Given the description of an element on the screen output the (x, y) to click on. 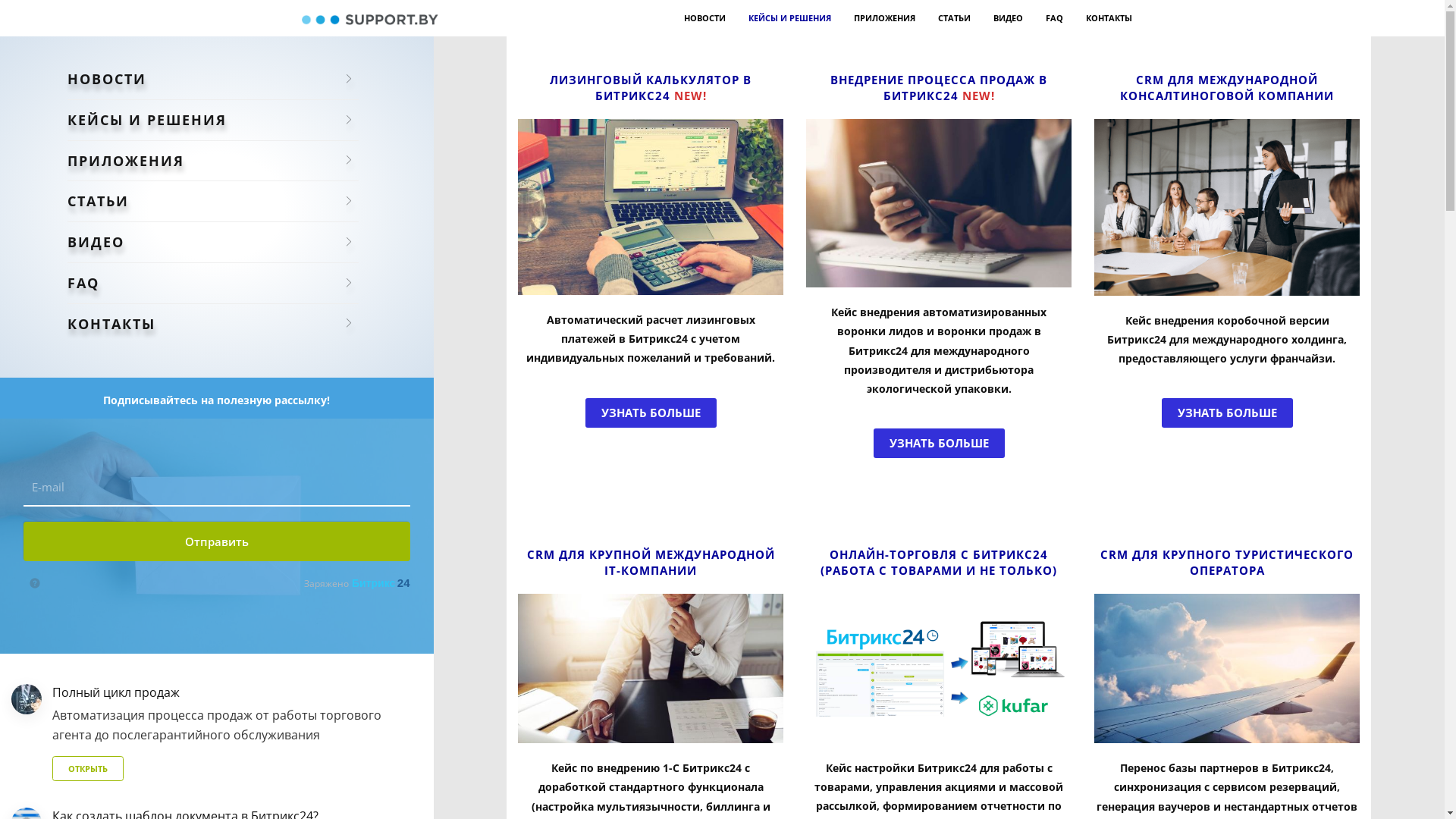
FAQ Element type: text (1053, 18)
FAQ Element type: text (212, 283)
